Given the description of an element on the screen output the (x, y) to click on. 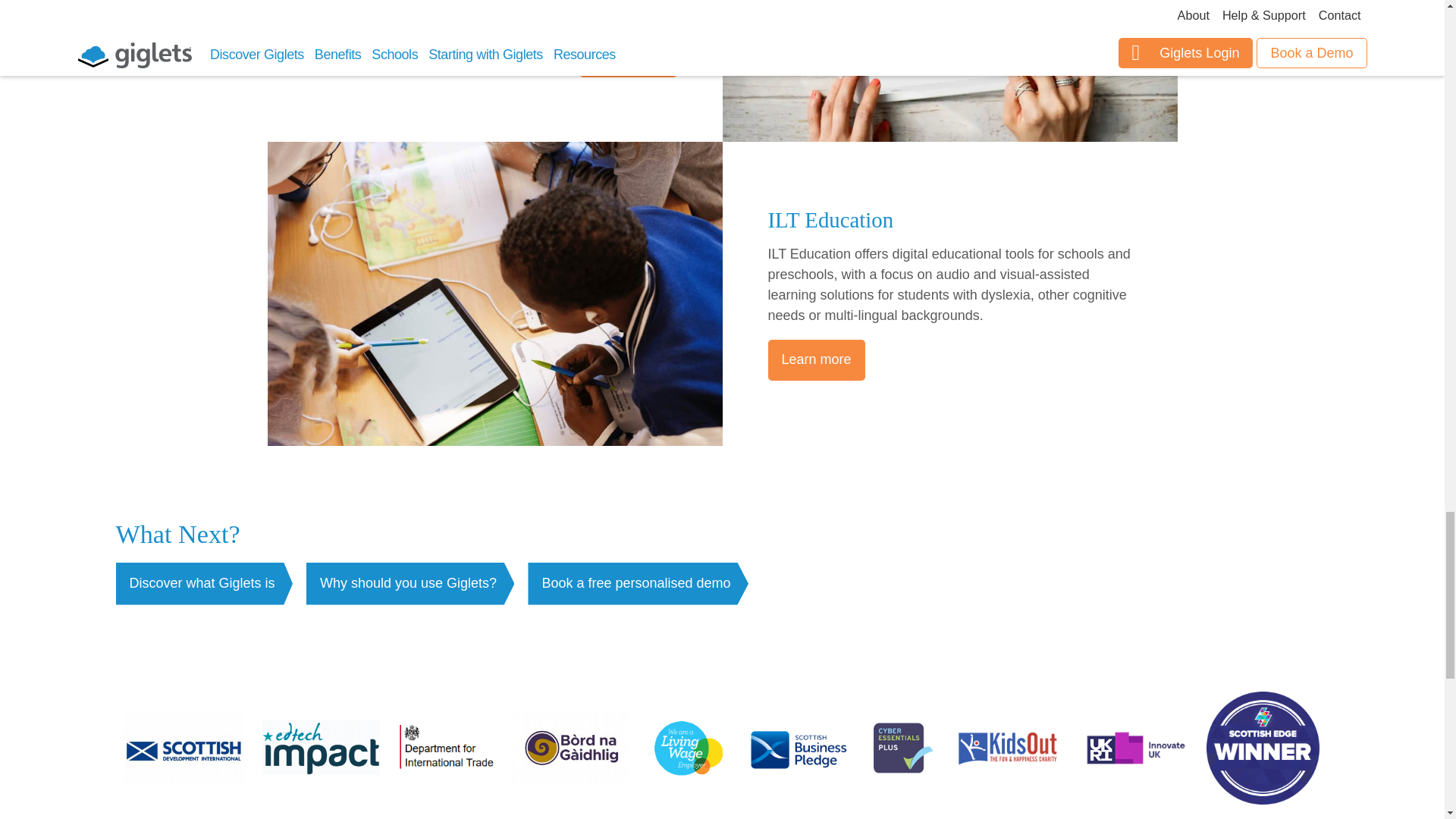
EdTech Impact (320, 750)
Scottish Business Pledge (798, 750)
UKRI (1135, 751)
Cyber Essentials (899, 750)
Department for International Trade (446, 750)
Scottish Development International (183, 750)
KidsOut World Stories (1008, 750)
Bord na Gaidhlig (571, 750)
Living Wage (689, 750)
Scottish EDGE (1262, 750)
